Given the description of an element on the screen output the (x, y) to click on. 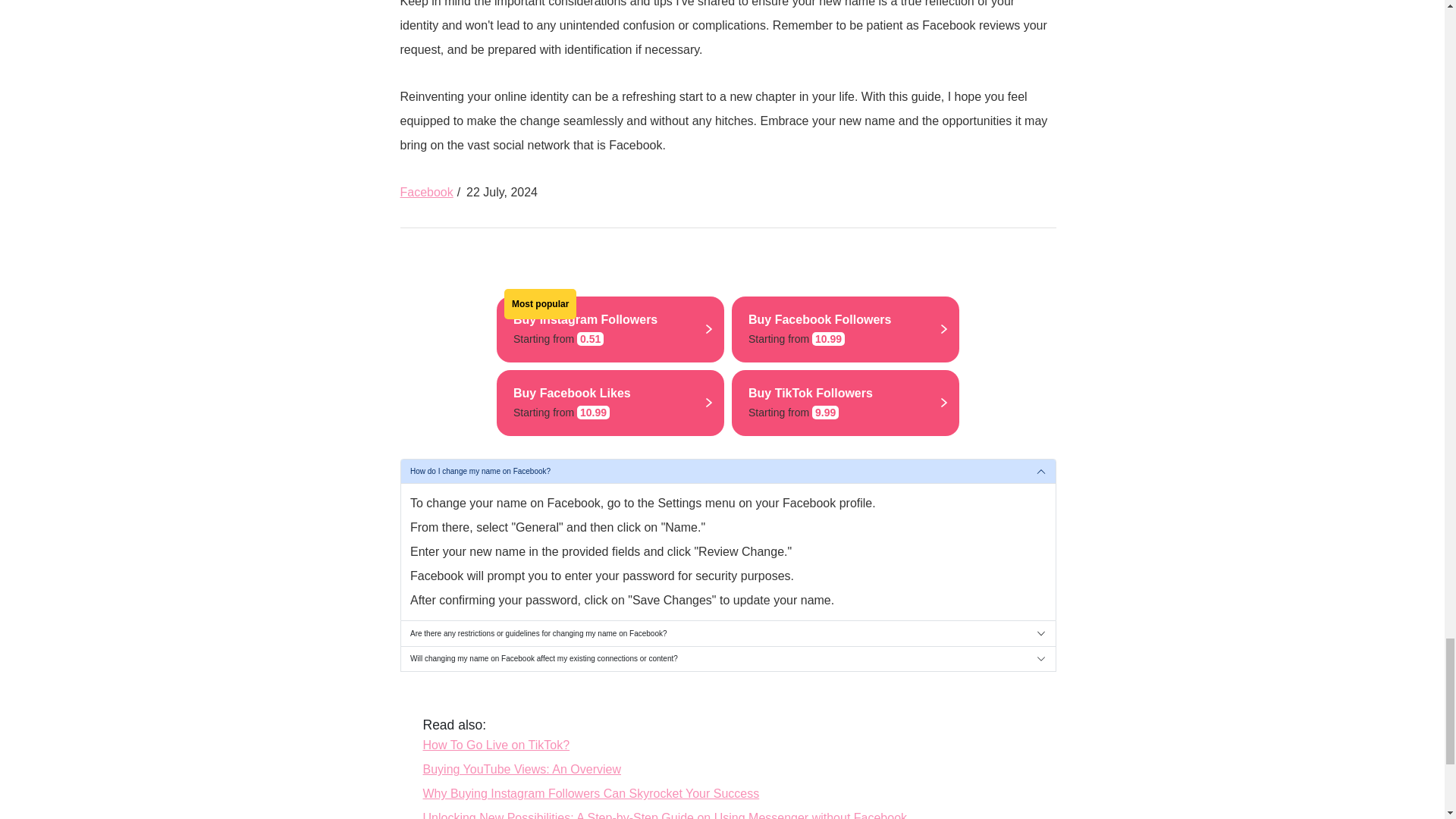
Buying YouTube Views: An Overview  (845, 329)
Facebook (522, 768)
How To Go Live on TikTok?  (609, 329)
How do I change my name on Facebook? (426, 192)
Why Buying Instagram Followers Can Skyrocket Your Success  (496, 744)
How To Go Live on TikTok? (727, 471)
